Given the description of an element on the screen output the (x, y) to click on. 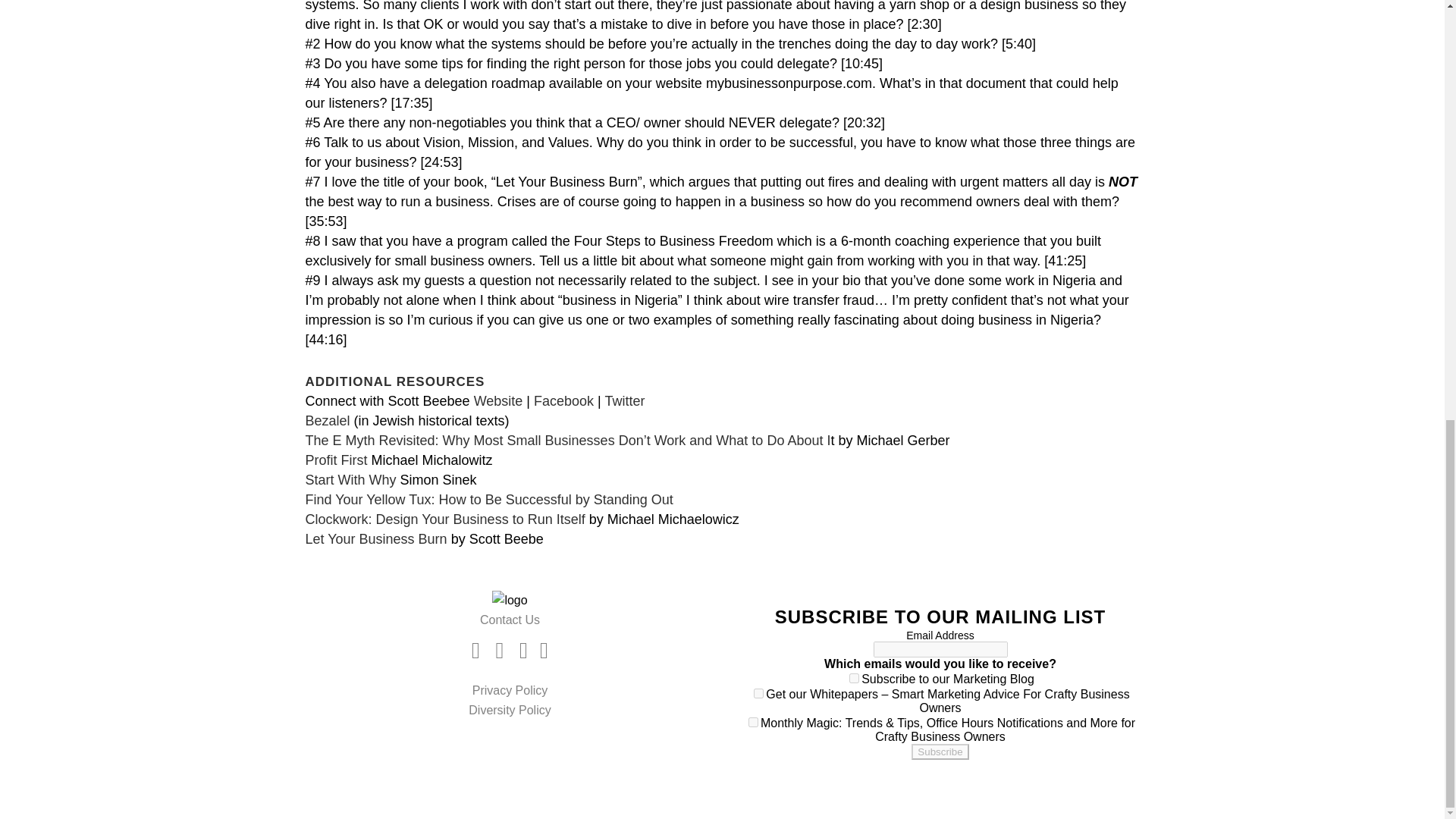
Website (498, 400)
4 (753, 722)
Subscribe (939, 751)
1 (853, 678)
2 (758, 693)
